Given the description of an element on the screen output the (x, y) to click on. 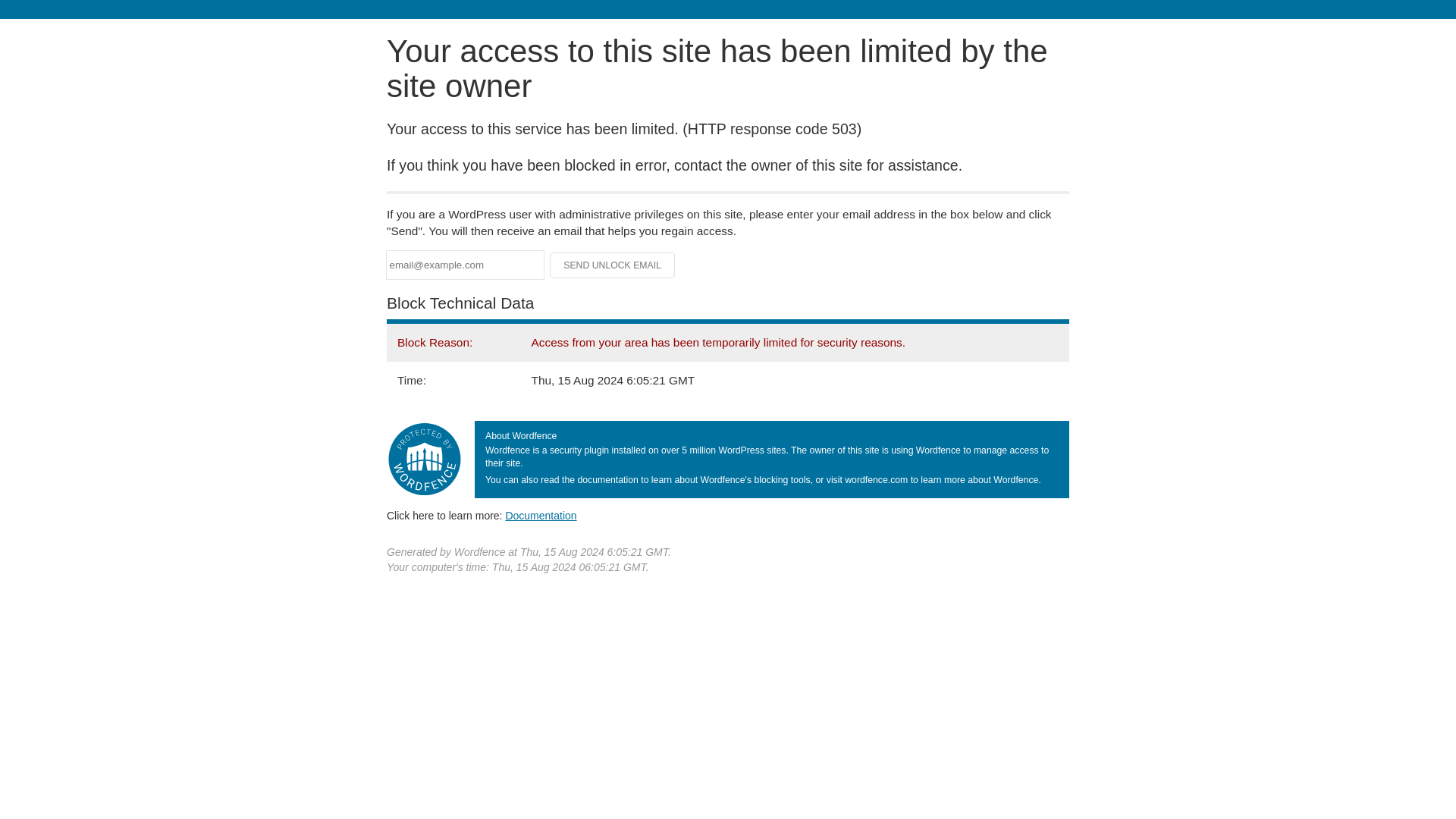
Send Unlock Email (612, 265)
Documentation (540, 515)
Send Unlock Email (612, 265)
